Given the description of an element on the screen output the (x, y) to click on. 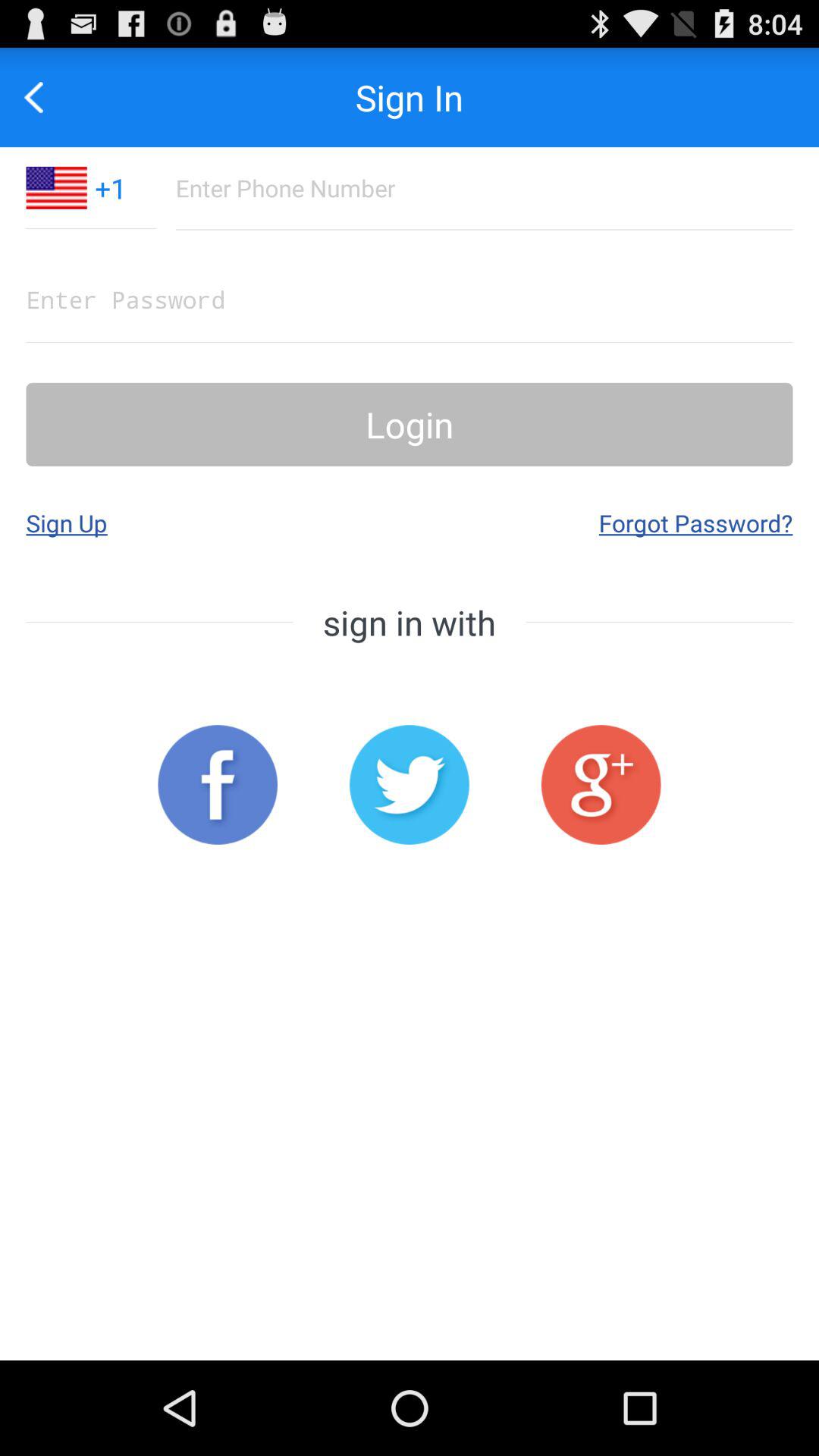
change area (56, 187)
